Given the description of an element on the screen output the (x, y) to click on. 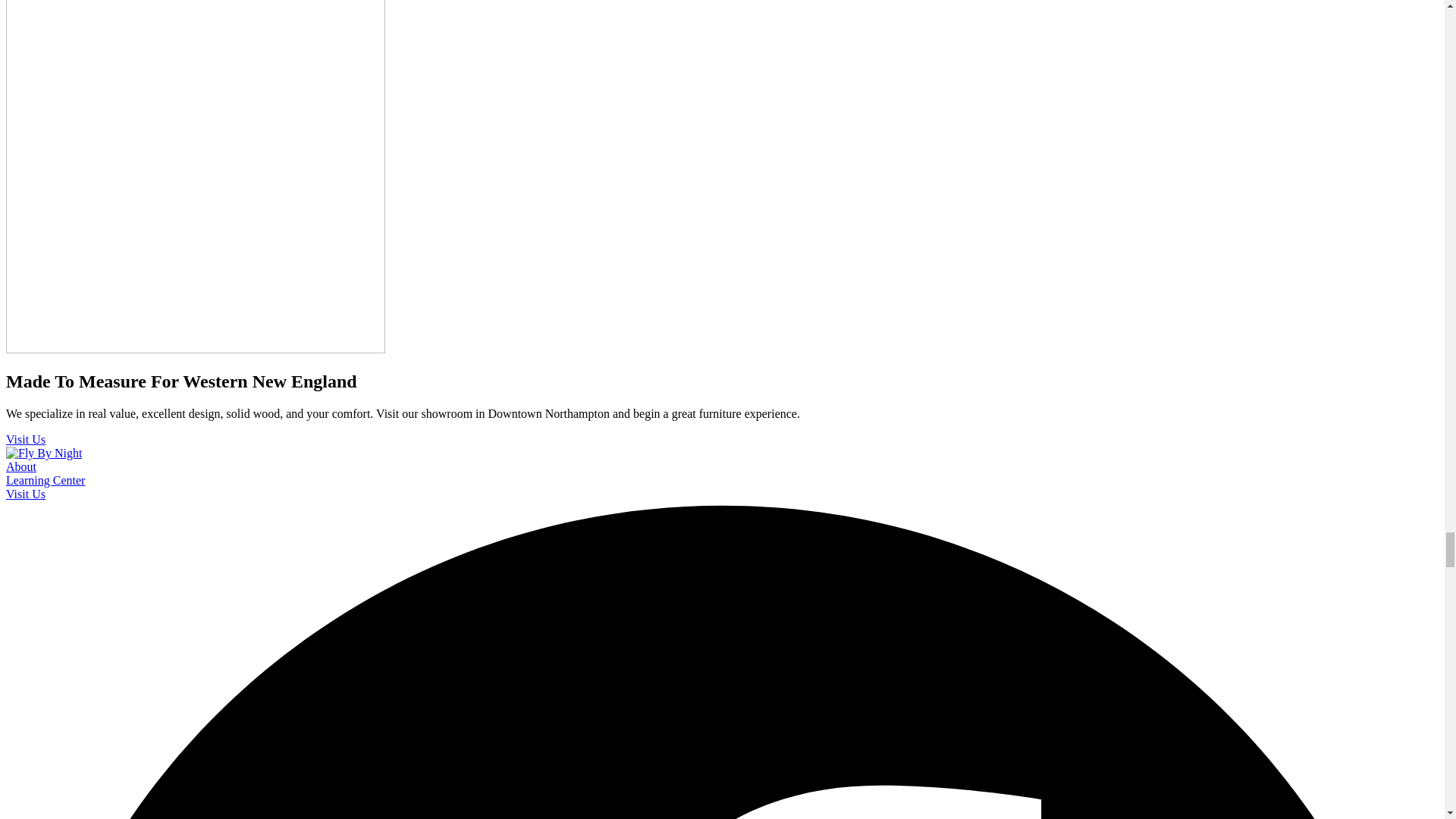
About (20, 466)
Visit Us (25, 439)
Visit Us (25, 493)
Learning Center (44, 480)
